Given the description of an element on the screen output the (x, y) to click on. 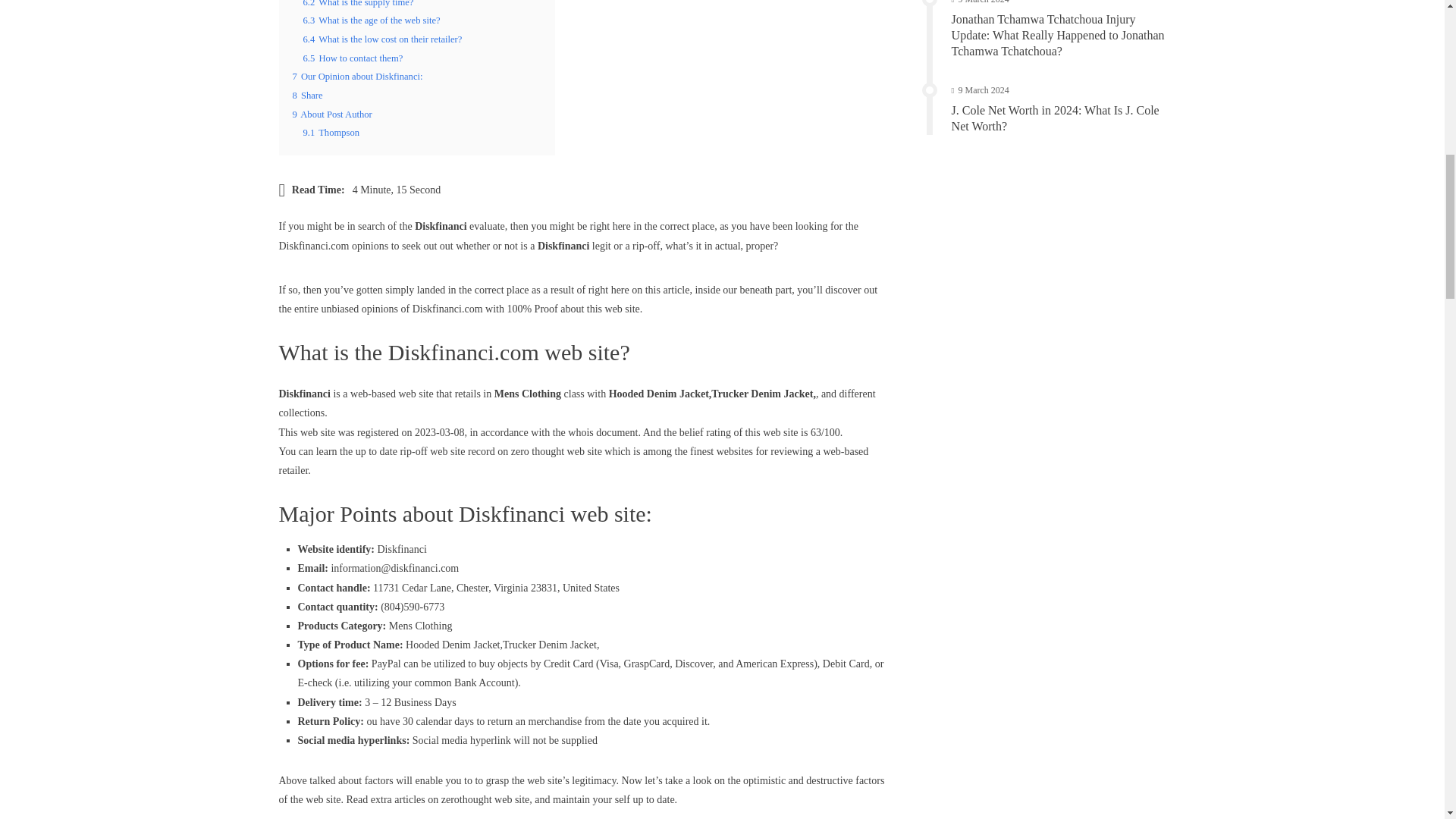
6.5 How to contact them? (352, 58)
9.1 Thompson (330, 132)
6.3 What is the age of the web site? (371, 20)
9 About Post Author (332, 113)
8 Share (307, 95)
6.2 What is the supply time? (357, 3)
6.4 What is the low cost on their retailer? (382, 39)
7 Our Opinion about Diskfinanci: (357, 76)
